Given the description of an element on the screen output the (x, y) to click on. 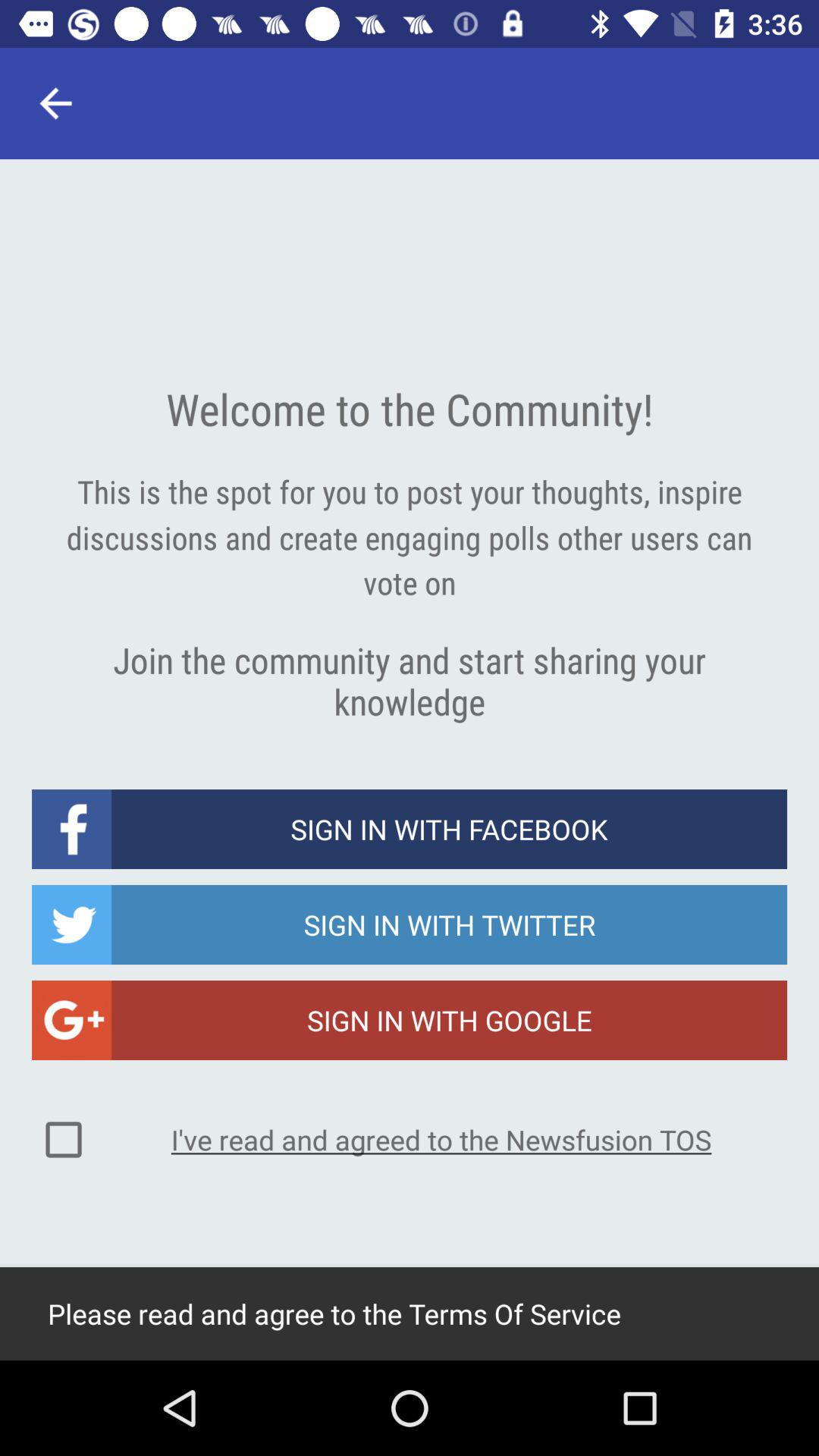
open i ve read icon (441, 1139)
